Given the description of an element on the screen output the (x, y) to click on. 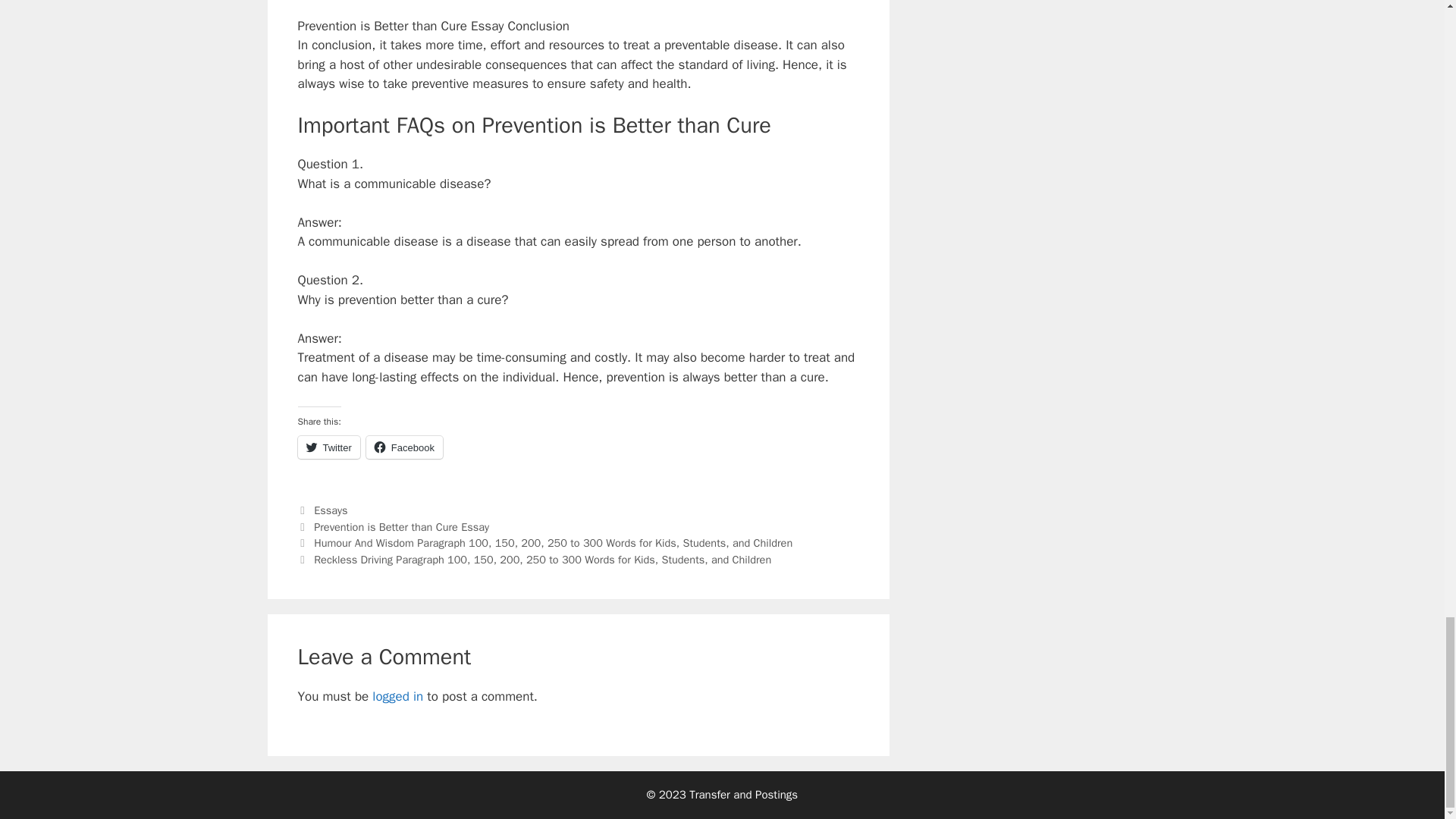
Essays (330, 509)
Prevention is Better than Cure Essay (401, 526)
Twitter (328, 446)
logged in (397, 696)
Facebook (404, 446)
Click to share on Twitter (328, 446)
Click to share on Facebook (404, 446)
